Given the description of an element on the screen output the (x, y) to click on. 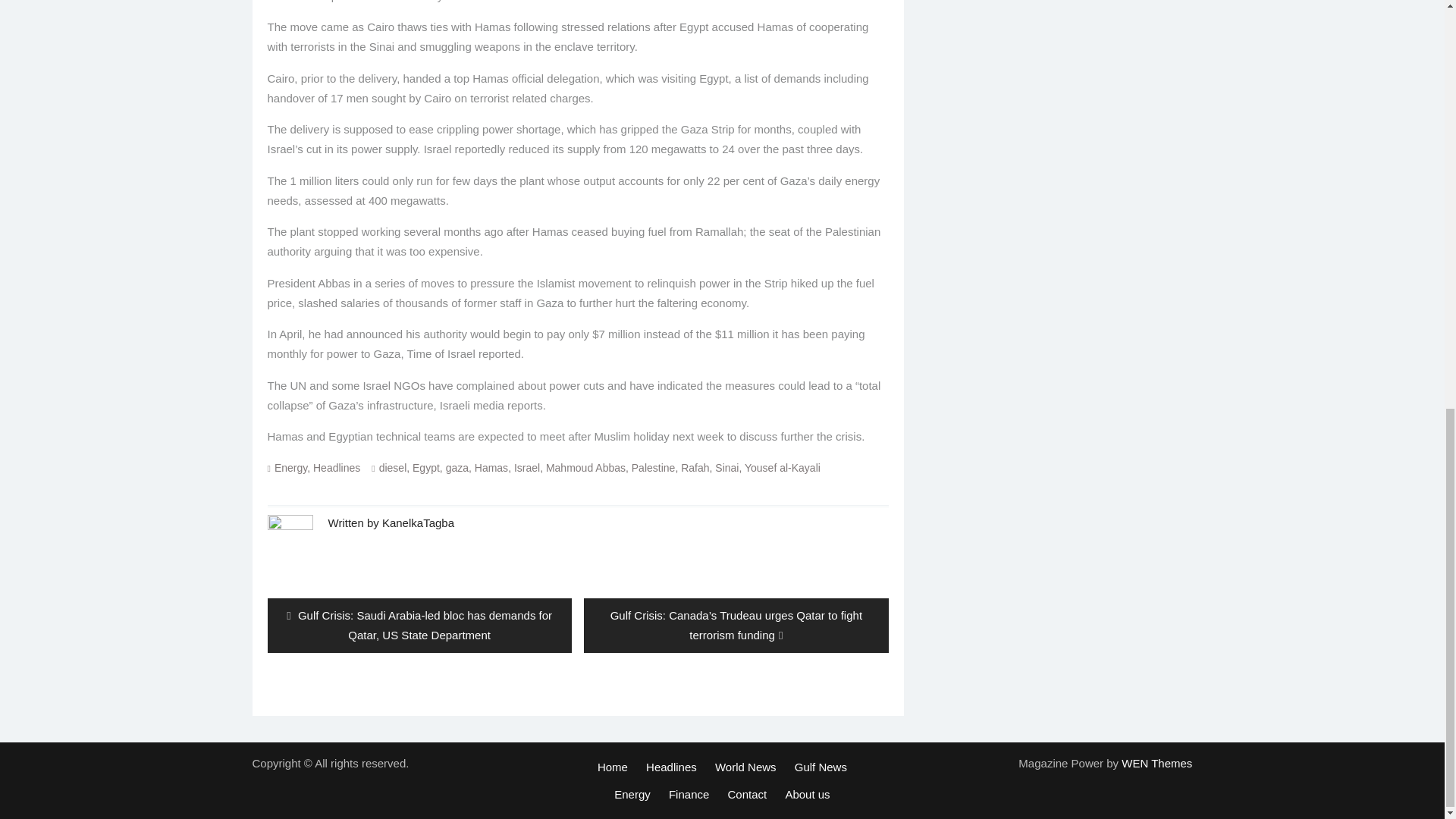
Israel (526, 467)
gaza (456, 467)
Rafah (695, 467)
Headlines (336, 467)
Yousef al-Kayali (782, 467)
Egypt (425, 467)
Palestine (653, 467)
Energy (291, 467)
Sinai (726, 467)
Hamas (491, 467)
diesel (392, 467)
Mahmoud Abbas (586, 467)
Posts by KanelkaTagba (417, 521)
